Given the description of an element on the screen output the (x, y) to click on. 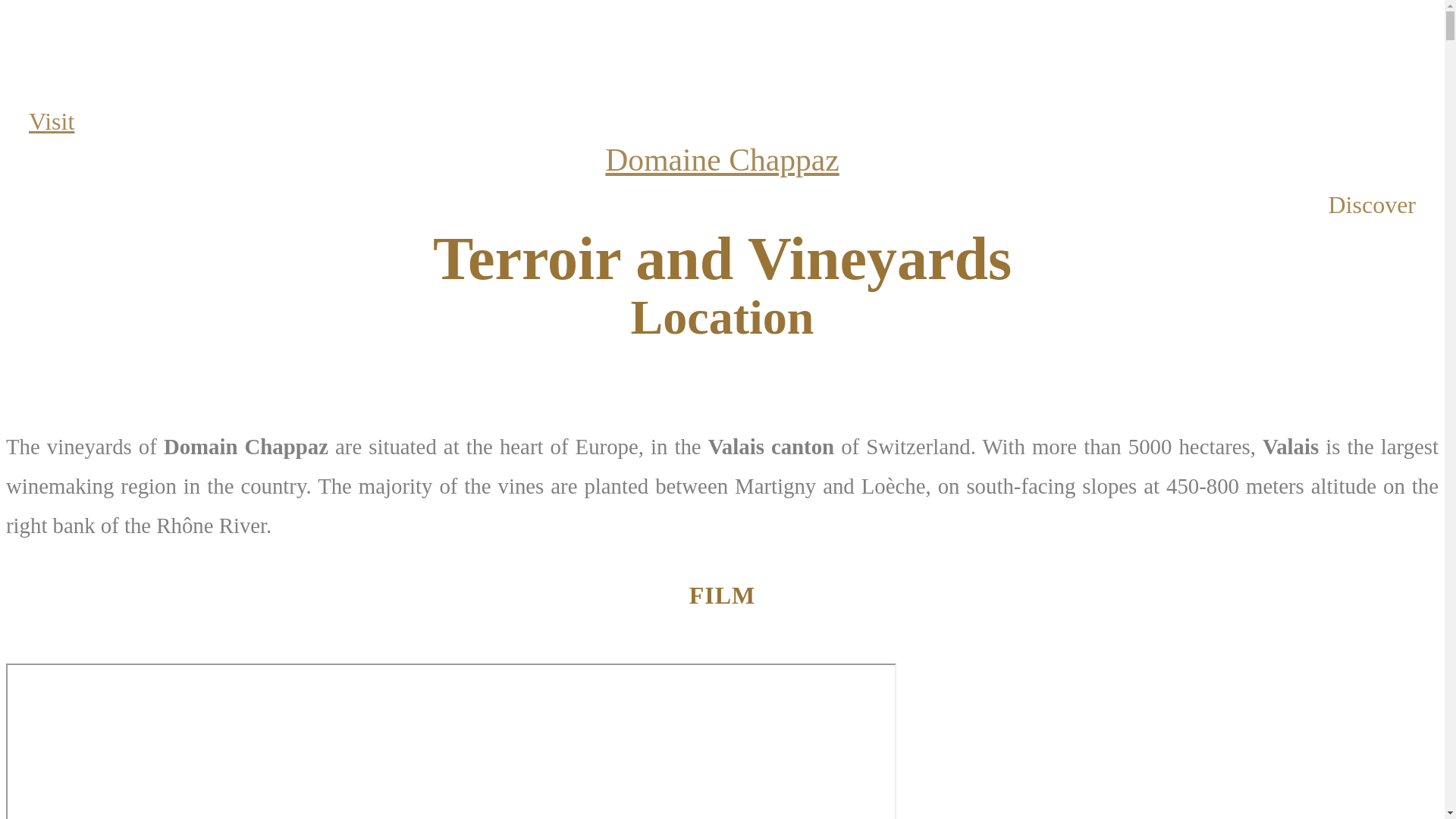
Discover Element type: text (1371, 204)
Domaine Chappaz Element type: text (721, 159)
Visit Element type: text (51, 120)
